Given the description of an element on the screen output the (x, y) to click on. 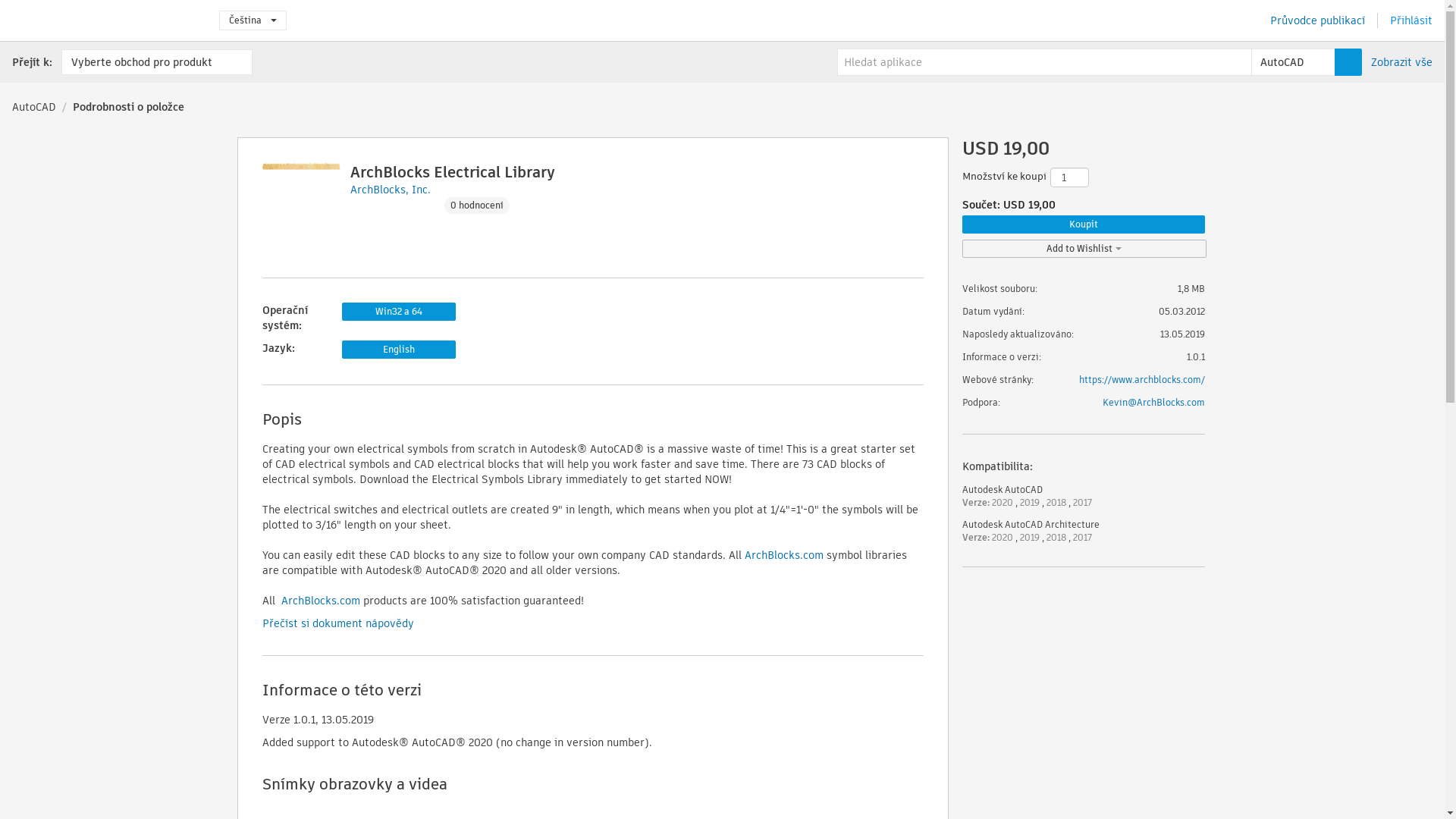
Vyberte obchod pro produkt (156, 62)
ArchBlocks Electrical Library (452, 171)
1 (1068, 177)
Autodesk App Store (103, 20)
